Given the description of an element on the screen output the (x, y) to click on. 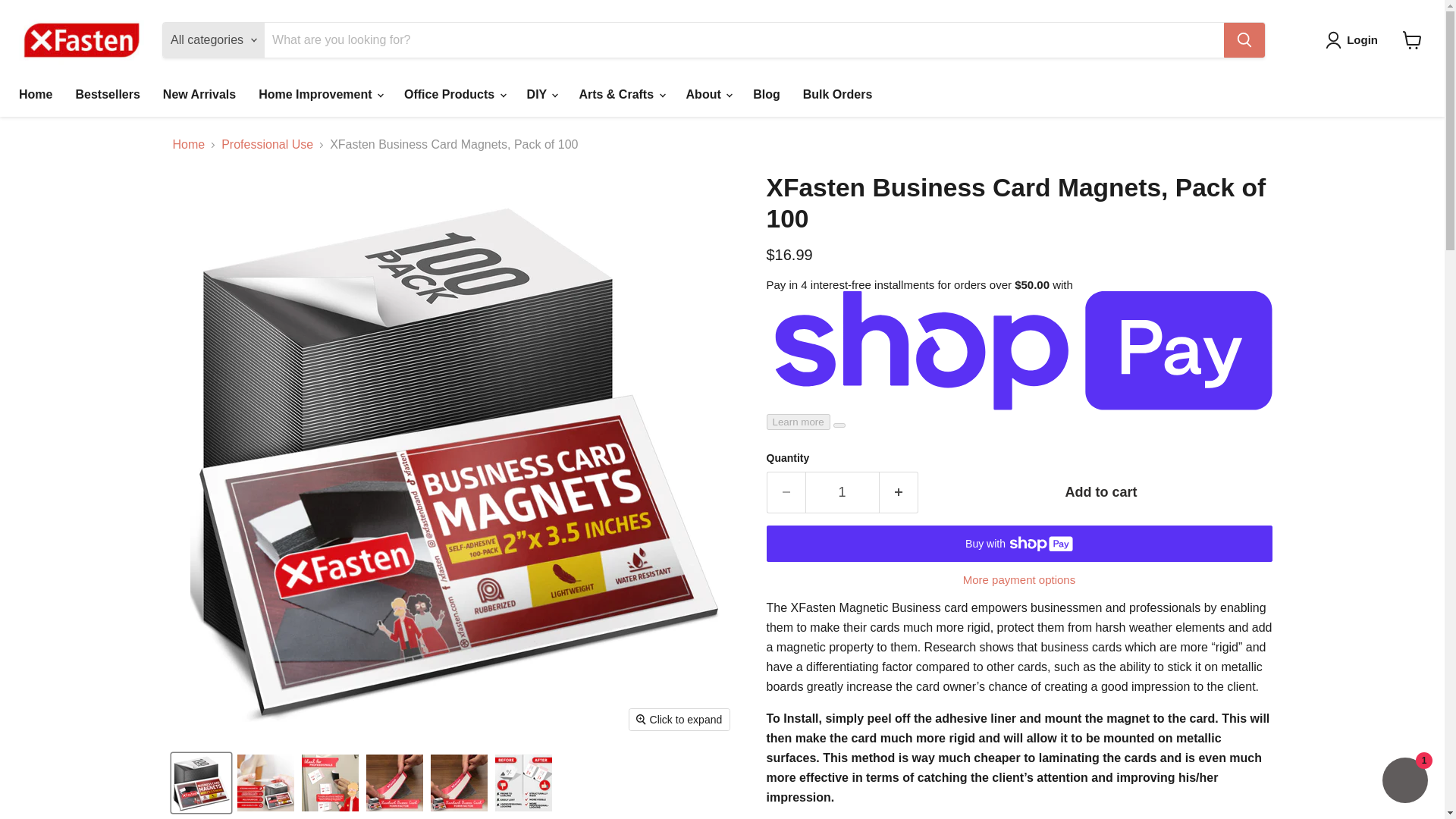
Bestsellers (107, 94)
Login (1354, 40)
Shopify online store chat (1404, 781)
New Arrivals (199, 94)
View cart (1411, 39)
1 (842, 492)
Home (35, 94)
